Given the description of an element on the screen output the (x, y) to click on. 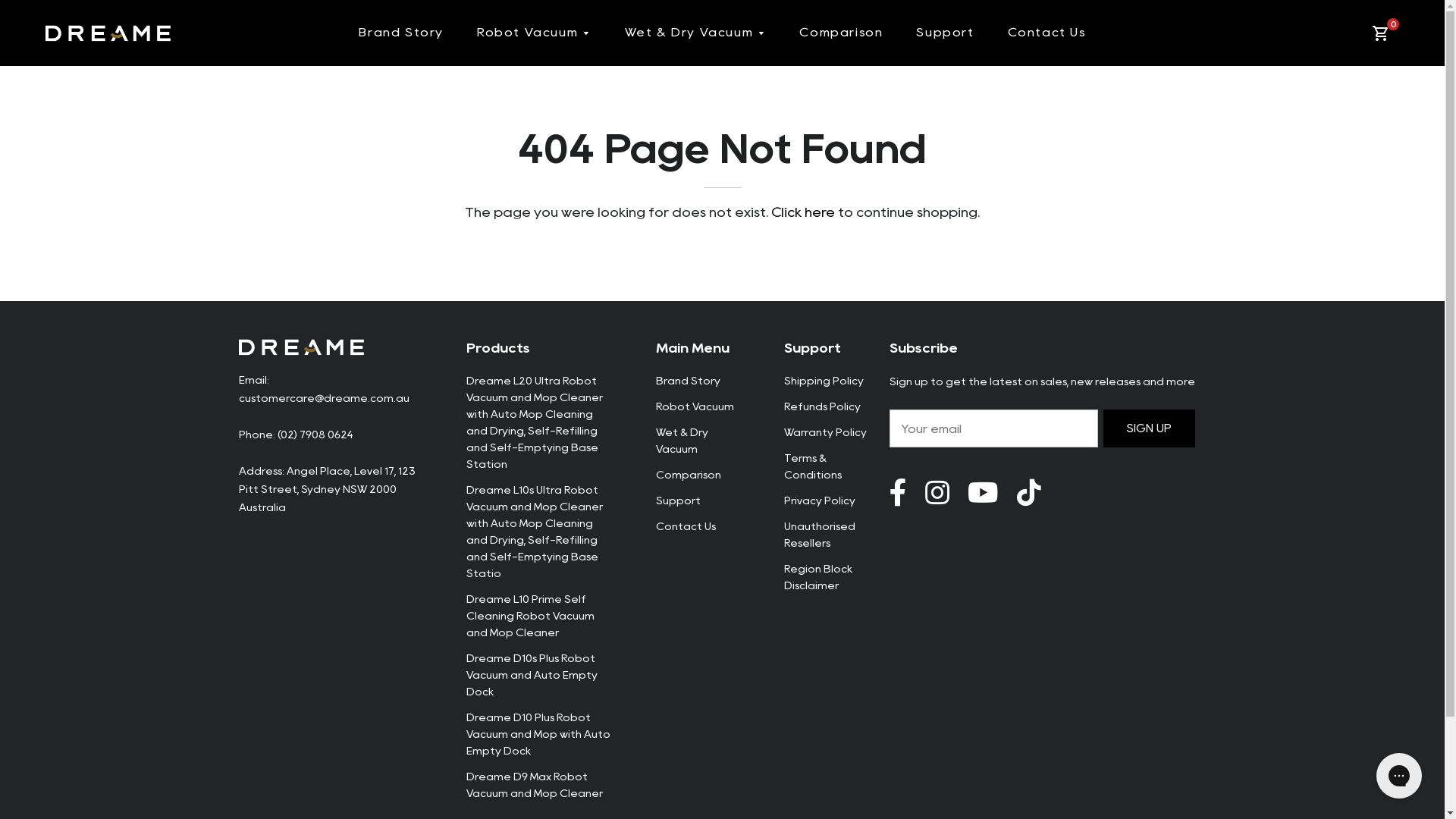
Dreame L10 Prime Self Cleaning Robot Vacuum and Mop Cleaner Element type: text (529, 615)
CART
0 Element type: text (1383, 32)
Wet & Dry Vacuum Element type: text (681, 440)
Dreame Technology Australia on YouTube Element type: hover (1028, 492)
Region Block Disclaimer Element type: text (818, 576)
Brand Story Element type: text (400, 32)
Unauthorised Resellers Element type: text (819, 534)
Terms & Conditions Element type: text (812, 466)
Gorgias live chat messenger Element type: hover (1398, 775)
Warranty Policy Element type: text (825, 431)
Support Element type: text (944, 32)
Refunds Policy Element type: text (822, 406)
Comparison Element type: text (687, 474)
Comparison Element type: text (840, 32)
Brand Story Element type: text (687, 380)
Shipping Policy Element type: text (823, 380)
Robot Vacuum Element type: text (694, 406)
Dreame Technology Australia on Facebook Element type: hover (897, 492)
Contact Us Element type: text (685, 525)
Click here Element type: text (802, 212)
Dreame D10s Plus Robot Vacuum and Auto Empty Dock Element type: text (530, 674)
Contact Us Element type: text (1046, 32)
Wet & Dry Vacuum Element type: text (695, 33)
Dreame D9 Max Robot Vacuum and Mop Cleaner Element type: text (533, 784)
Privacy Policy Element type: text (819, 500)
Dreame D10 Plus Robot Vacuum and Mop with Auto Empty Dock Element type: text (537, 733)
Dreame Technology Australia on YouTube Element type: hover (982, 492)
Robot Vacuum Element type: text (533, 33)
SIGN UP Element type: text (1149, 428)
Dreame Technology Australia on Instagram Element type: hover (937, 492)
Support Element type: text (677, 500)
